Given the description of an element on the screen output the (x, y) to click on. 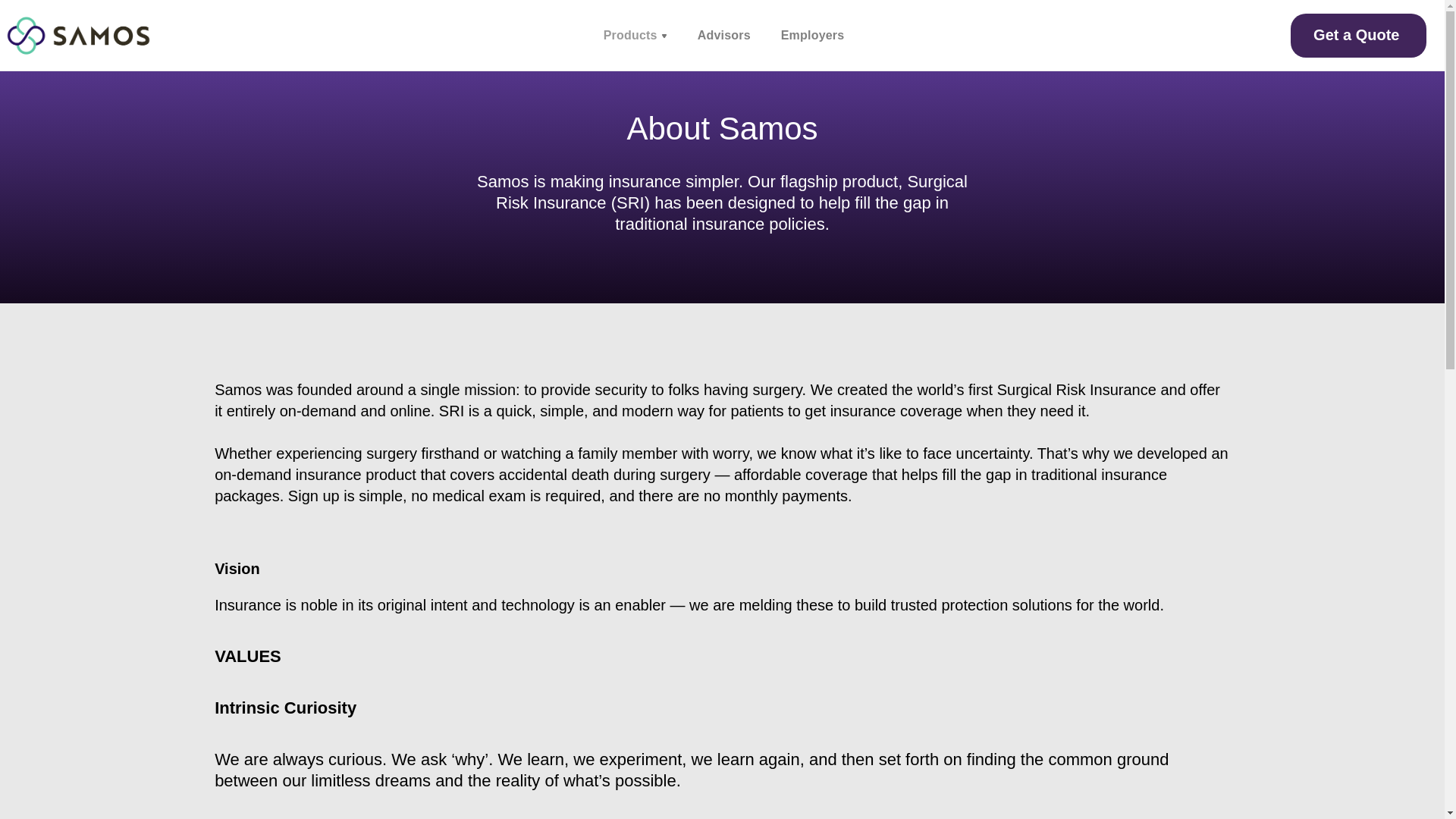
Advisors (724, 34)
Employers (812, 34)
Get a Quote  (1358, 35)
